Given the description of an element on the screen output the (x, y) to click on. 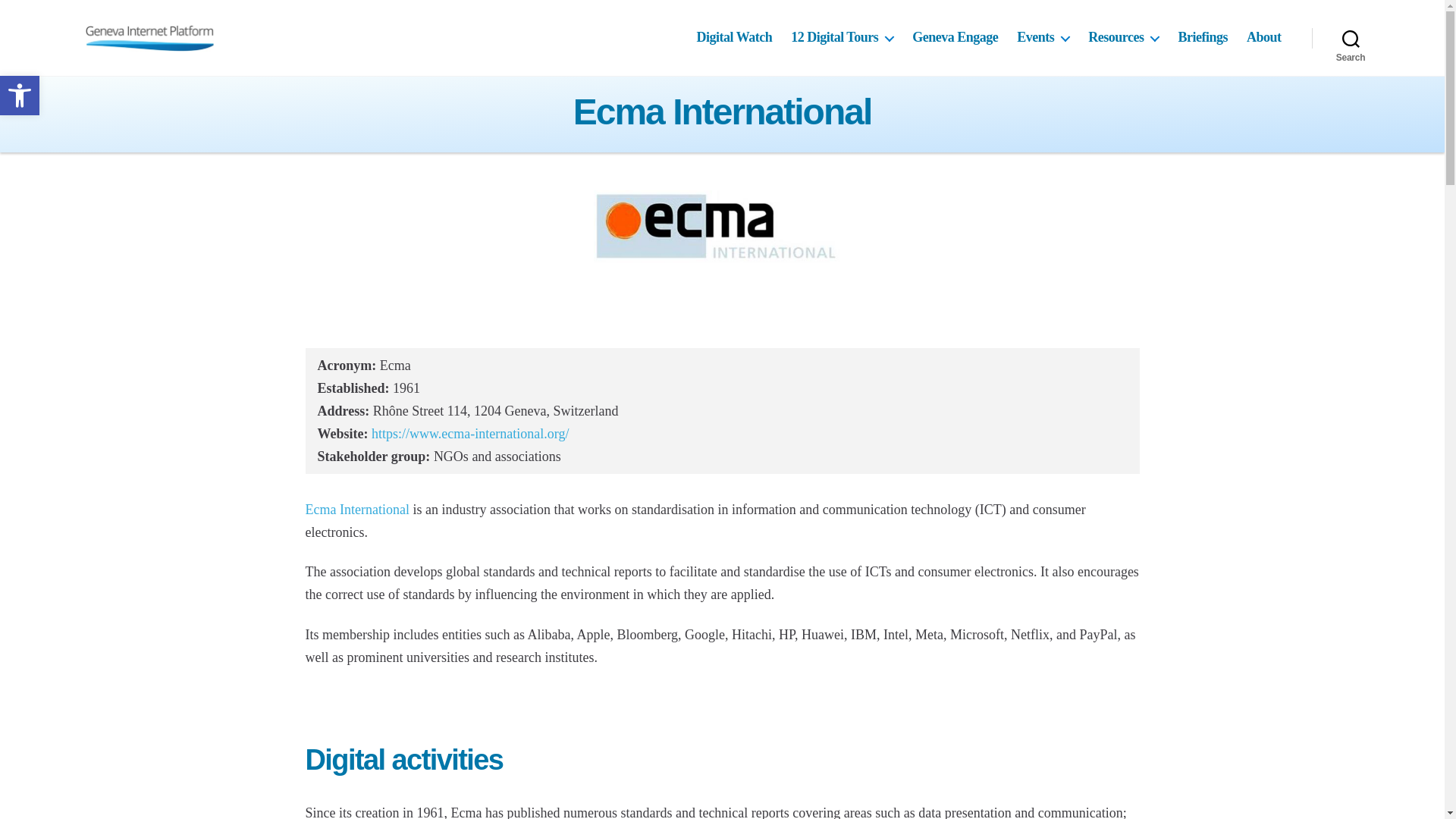
About (1263, 37)
12 Digital Tours (841, 37)
Resources (1122, 37)
Open toolbar (19, 95)
Briefings (1202, 37)
Search (1350, 37)
Geneva Engage (954, 37)
Digital Watch (733, 37)
Events (1042, 37)
Accessibility Tools (19, 95)
